Given the description of an element on the screen output the (x, y) to click on. 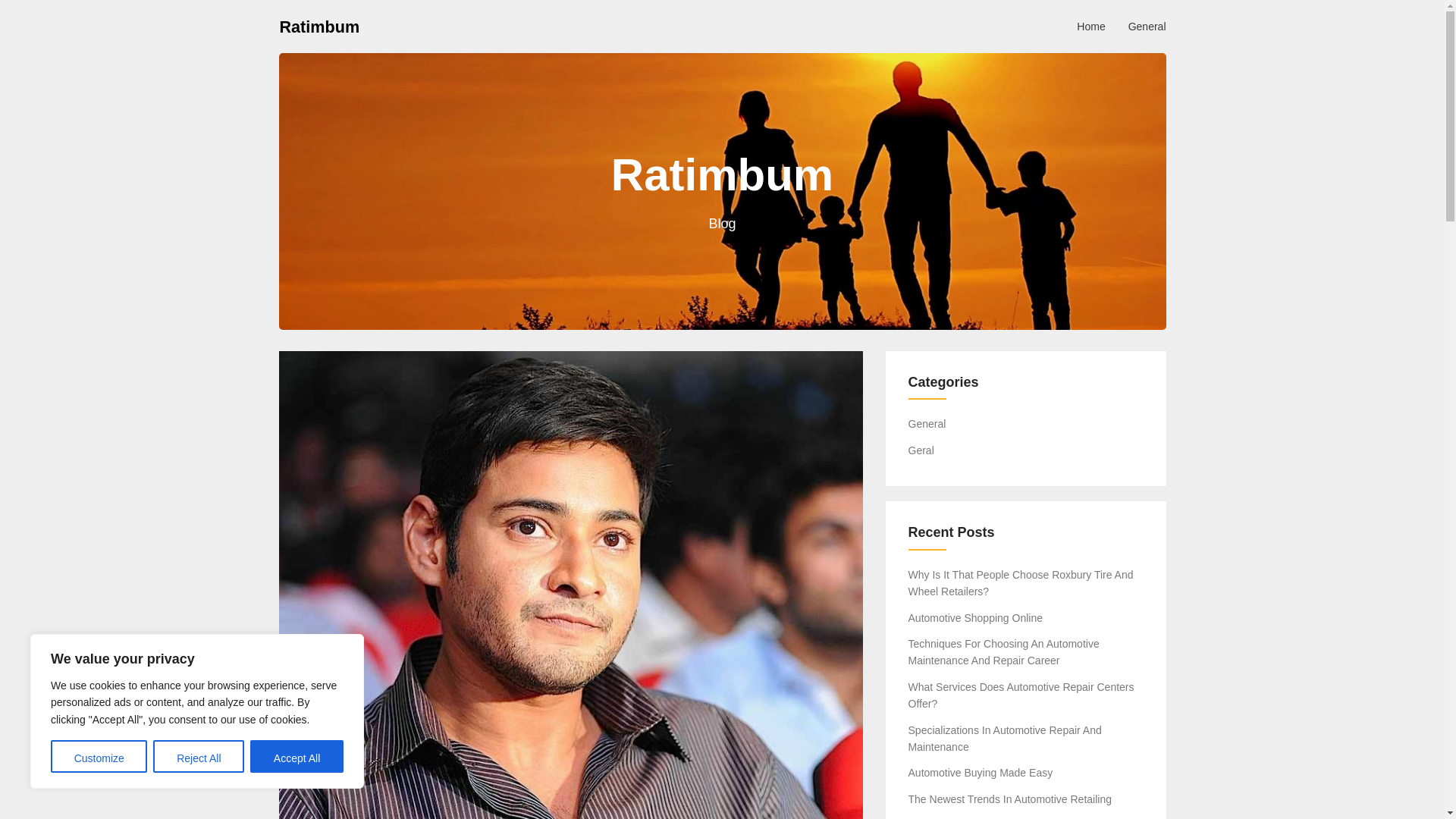
The Newest Trends In Automotive Retailing (1010, 799)
Automotive Buying Made Easy (980, 772)
Customize (98, 756)
Home (1090, 26)
What Services Does Automotive Repair Centers Offer? (1021, 695)
Accept All (296, 756)
General (1146, 26)
Ratimbum (319, 26)
Automotive Shopping Online (975, 617)
Reject All (198, 756)
Geral (921, 450)
General (927, 423)
Specializations In Automotive Repair And Maintenance (1005, 737)
